Given the description of an element on the screen output the (x, y) to click on. 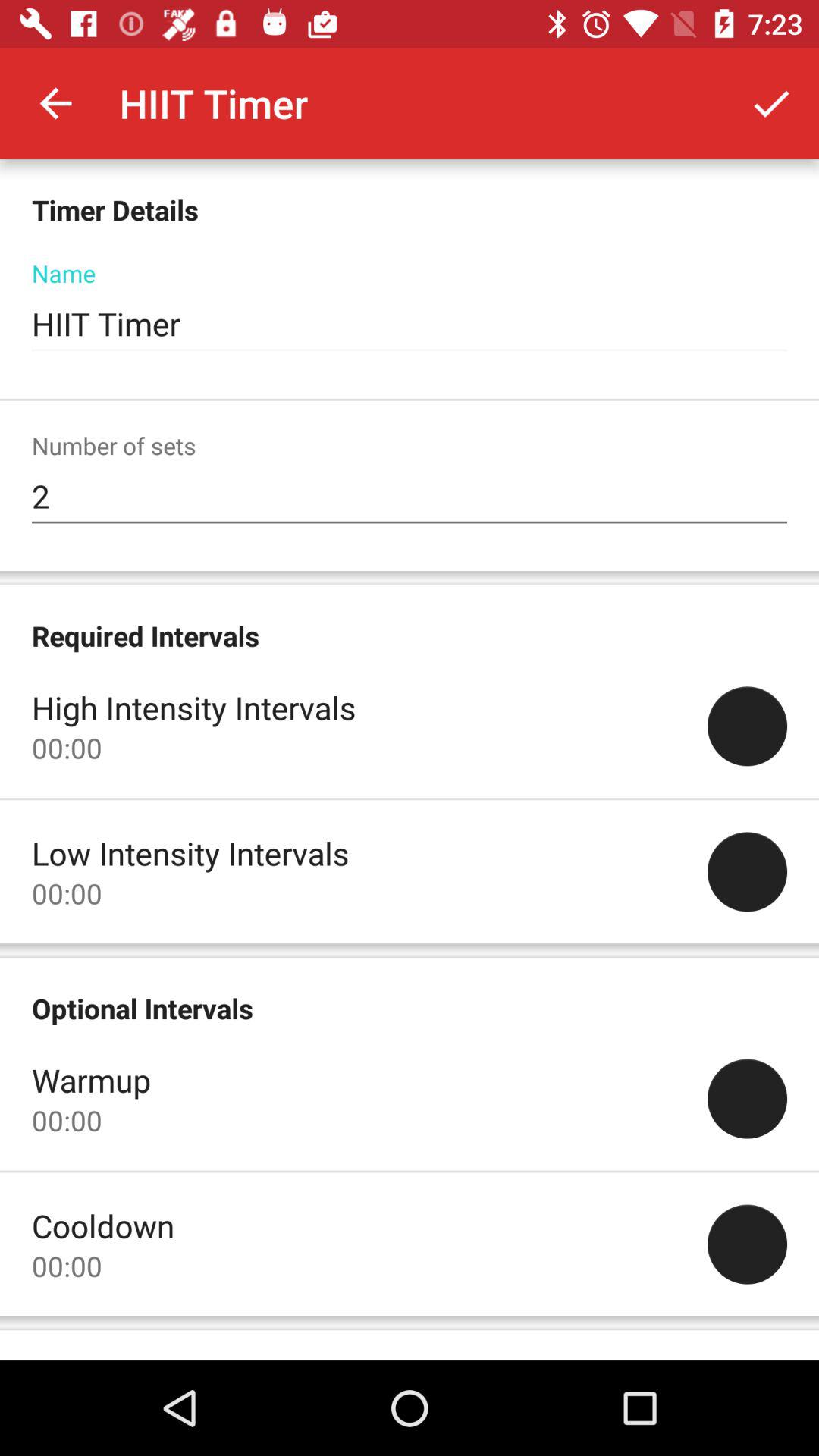
press icon to the right of hiit timer (771, 103)
